Given the description of an element on the screen output the (x, y) to click on. 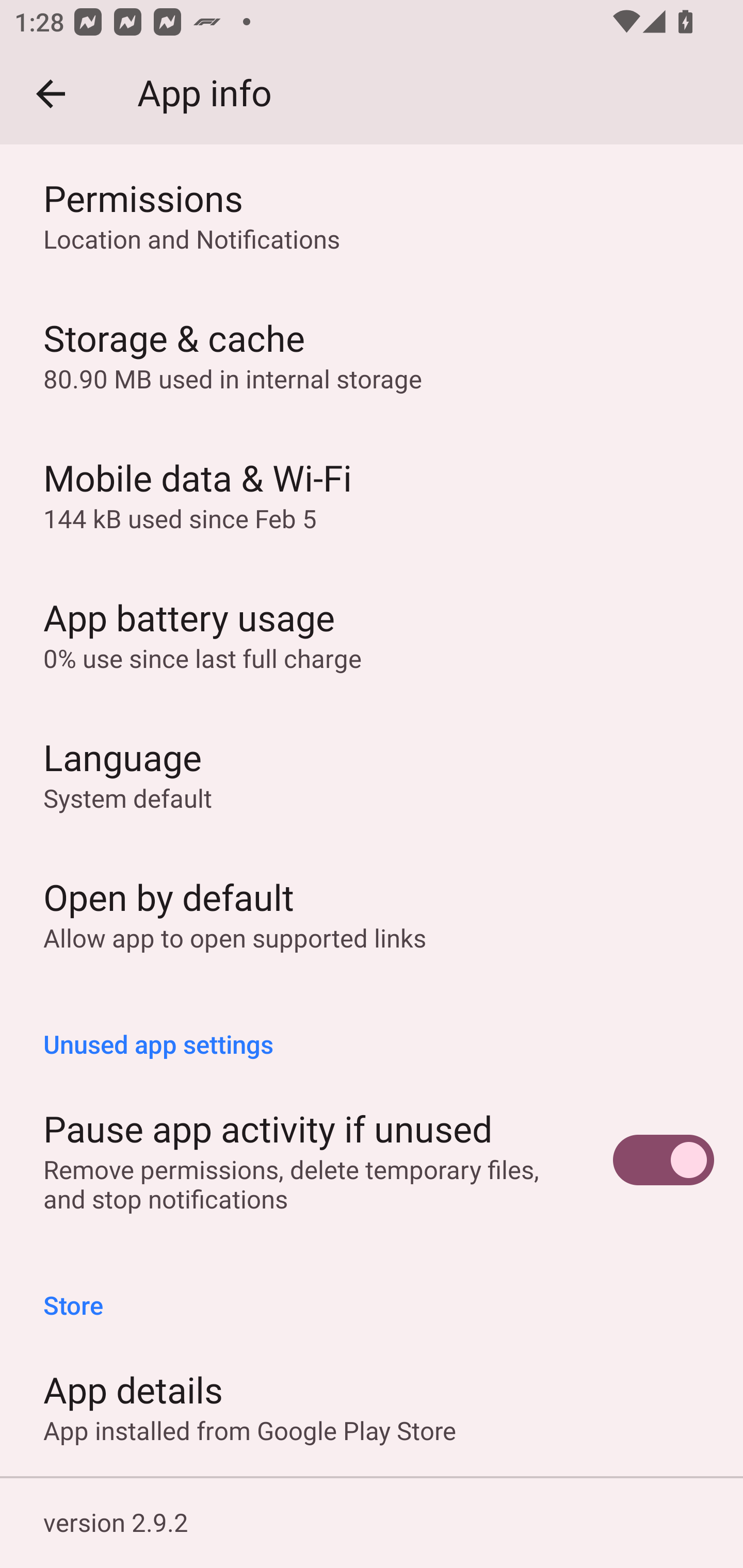
Navigate up (50, 93)
Permissions Location and Notifications (371, 214)
Storage & cache 80.90 MB used in internal storage (371, 354)
Mobile data & Wi‑Fi 144 kB used since Feb 5 (371, 494)
App battery usage 0% use since last full charge (371, 634)
Language System default (371, 773)
Open by default Allow app to open supported links (371, 913)
App details App installed from Google Play Store (371, 1405)
